Given the description of an element on the screen output the (x, y) to click on. 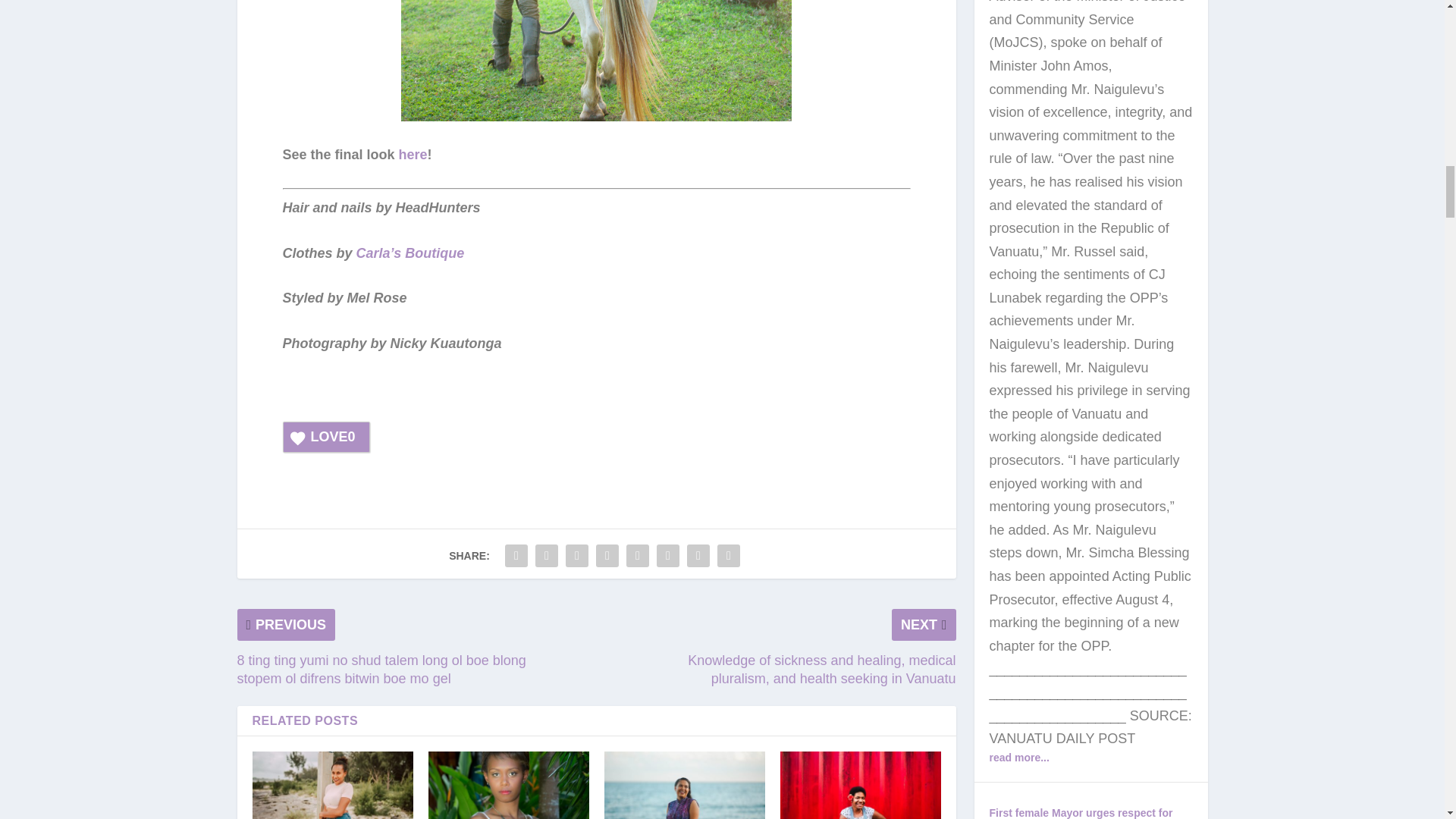
here (411, 154)
LOVE0 (325, 436)
